Given the description of an element on the screen output the (x, y) to click on. 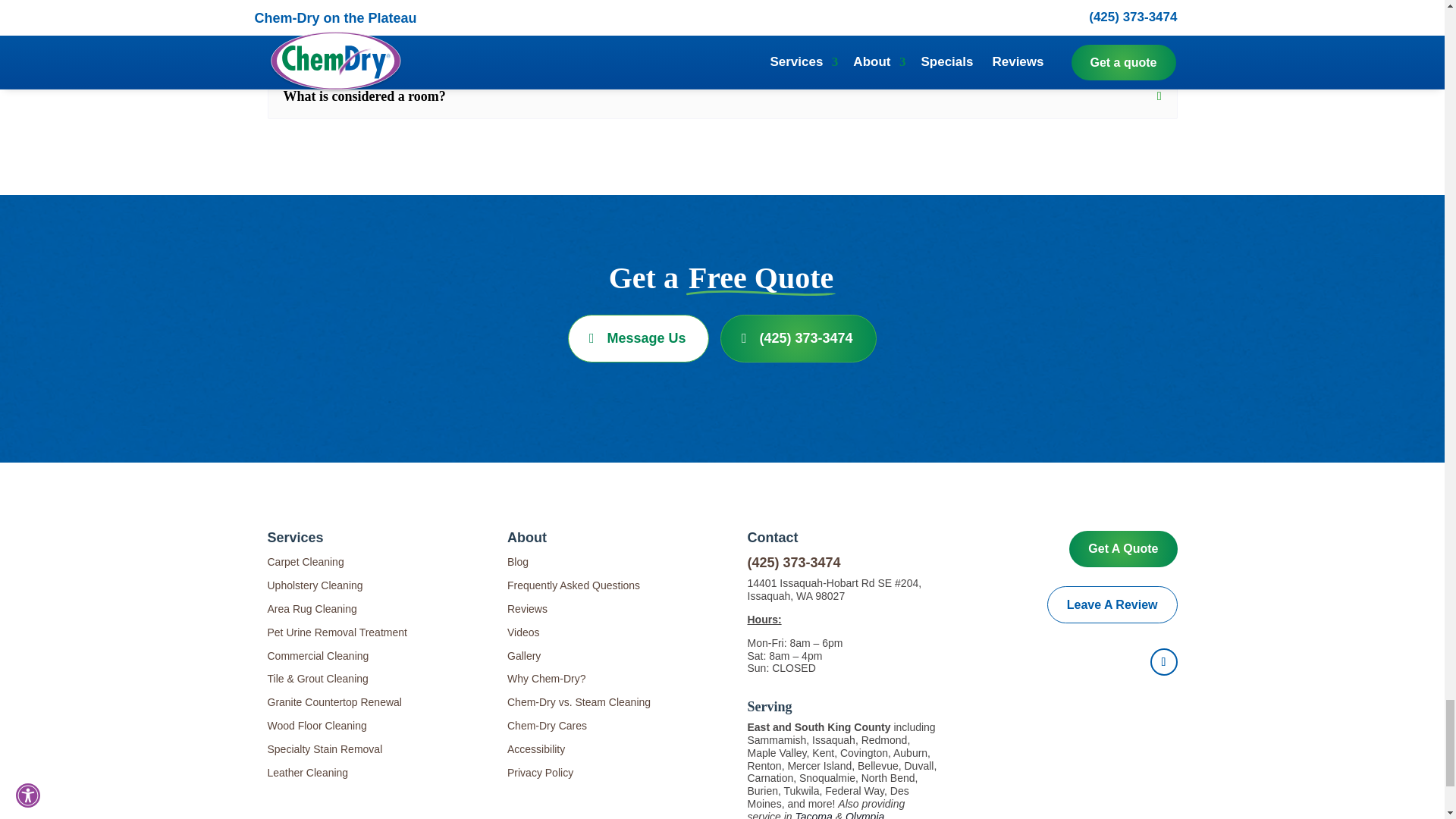
Videos (523, 632)
Gallery (523, 655)
Why Chem-Dry? (545, 678)
Blog (517, 562)
Carpet Cleaning (304, 562)
Granite Countertop Renewal (333, 702)
Wood Floor Cleaning (316, 725)
Services (294, 537)
Pet Urine Removal Treatment (336, 632)
Follow on Facebook (1163, 661)
